Given the description of an element on the screen output the (x, y) to click on. 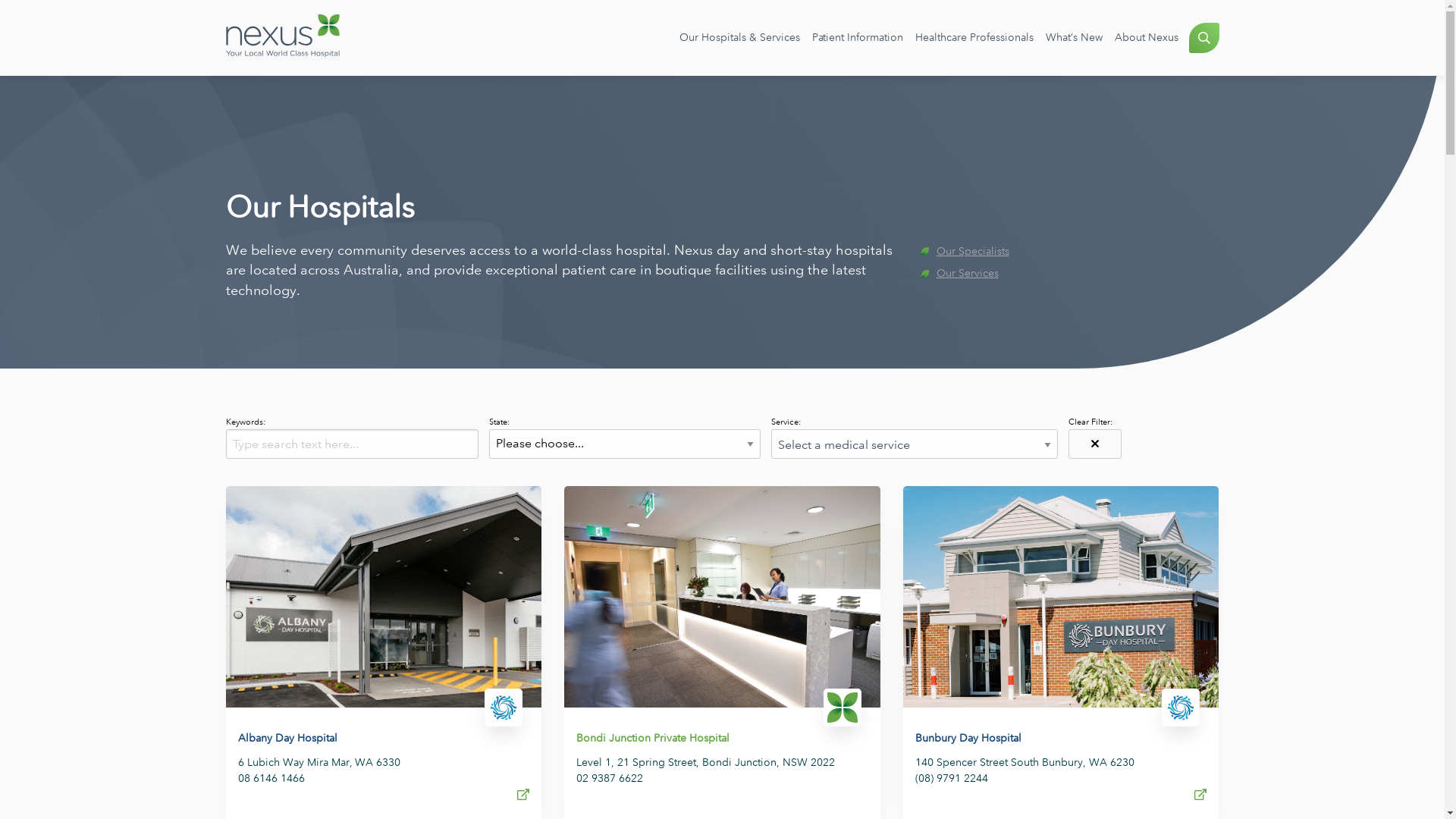
About Nexus Element type: text (1146, 37)
Our Services Element type: text (1069, 273)
Our Specialists Element type: text (1069, 251)
Our Hospitals & Services Element type: text (739, 37)
Healthcare Professionals Element type: text (973, 37)
Patient Information Element type: text (856, 37)
